Given the description of an element on the screen output the (x, y) to click on. 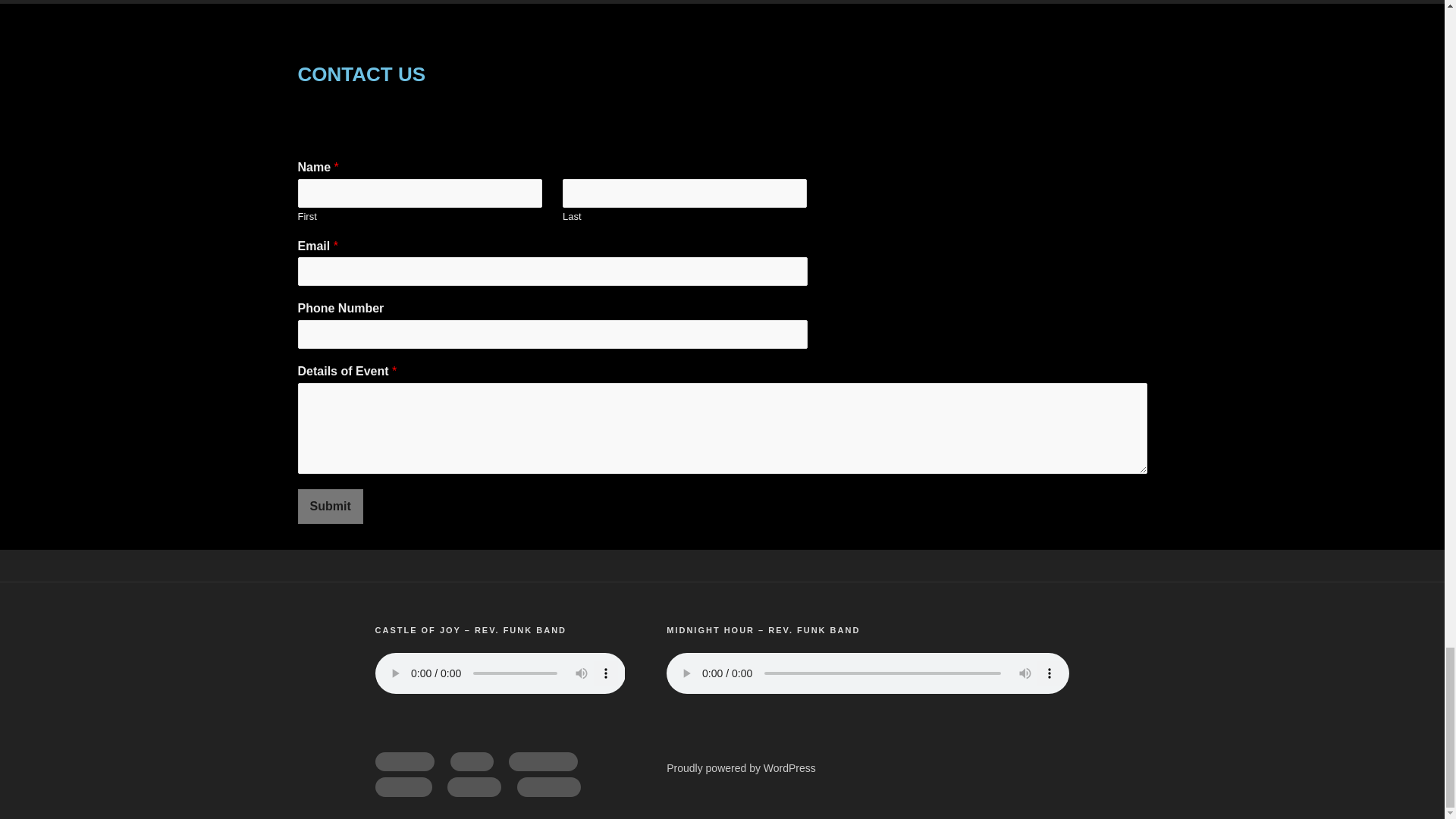
Proudly powered by WordPress (740, 767)
Submit (329, 506)
